Given the description of an element on the screen output the (x, y) to click on. 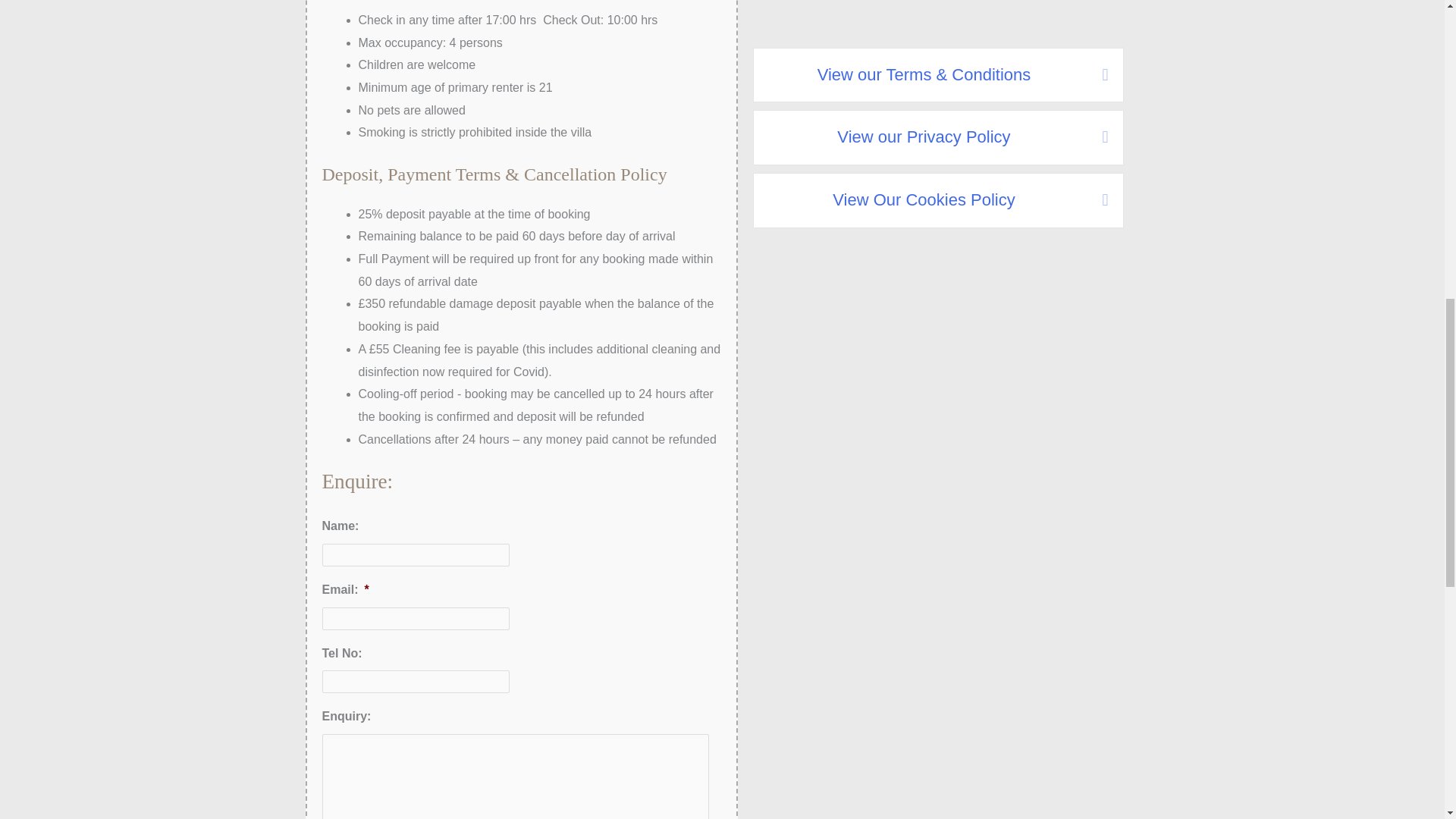
Expand (1093, 200)
Expand (1093, 137)
Expand (1093, 74)
View Our Cookies Policy (924, 200)
View our Privacy Policy (924, 137)
